Given the description of an element on the screen output the (x, y) to click on. 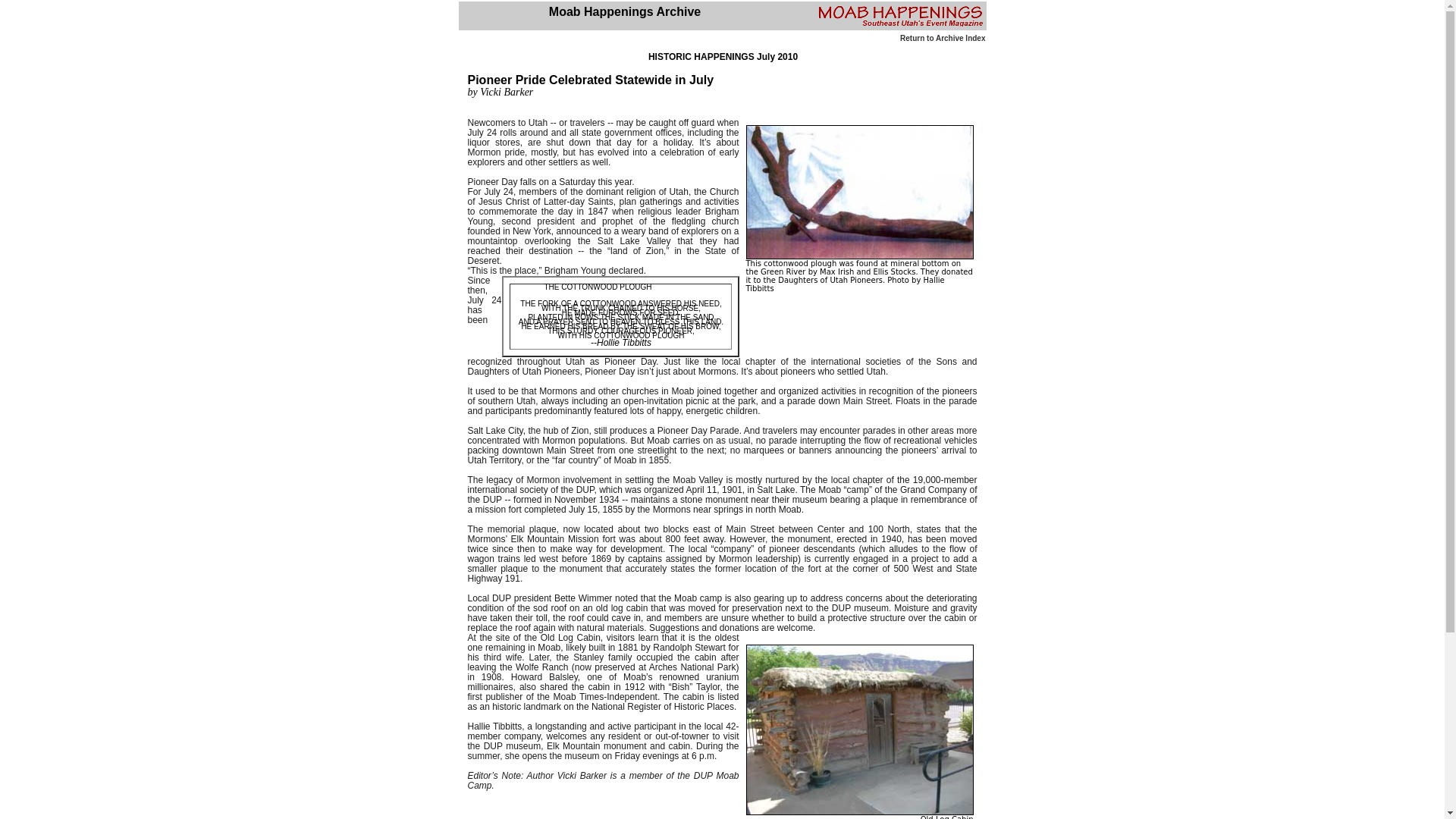
Return to Archive Index (942, 38)
